Given the description of an element on the screen output the (x, y) to click on. 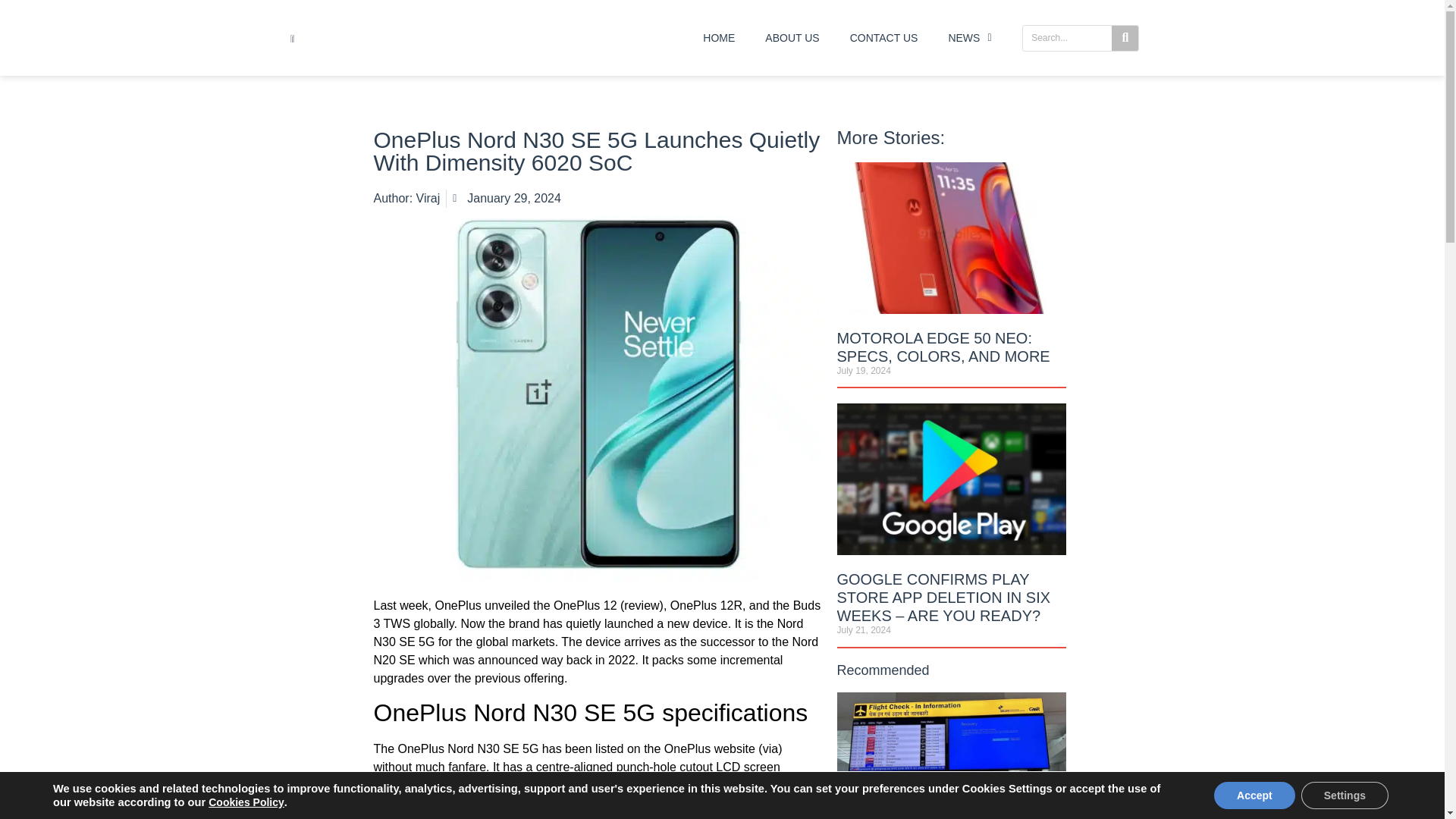
CONTACT US (883, 38)
January 29, 2024 (506, 198)
ABOUT US (791, 38)
NEWS (969, 38)
